Given the description of an element on the screen output the (x, y) to click on. 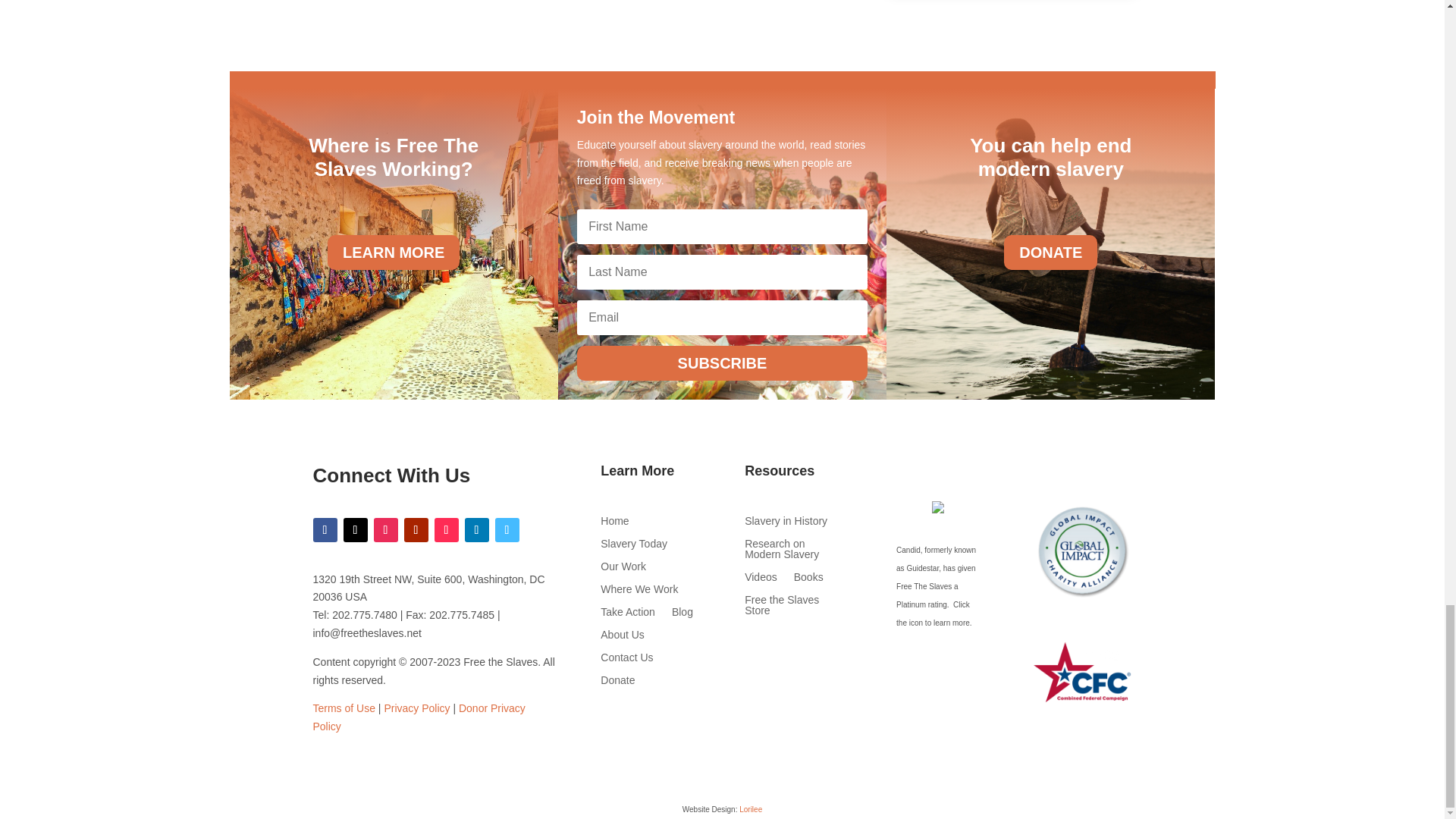
Follow on Vimeo (506, 529)
Follow on Facebook (324, 529)
4 (1082, 671)
Follow on TikTok (445, 529)
Follow on X (354, 529)
Follow on LinkedIn (475, 529)
Follow on Youtube (415, 529)
3 (1082, 550)
Follow on Instagram (384, 529)
